Given the description of an element on the screen output the (x, y) to click on. 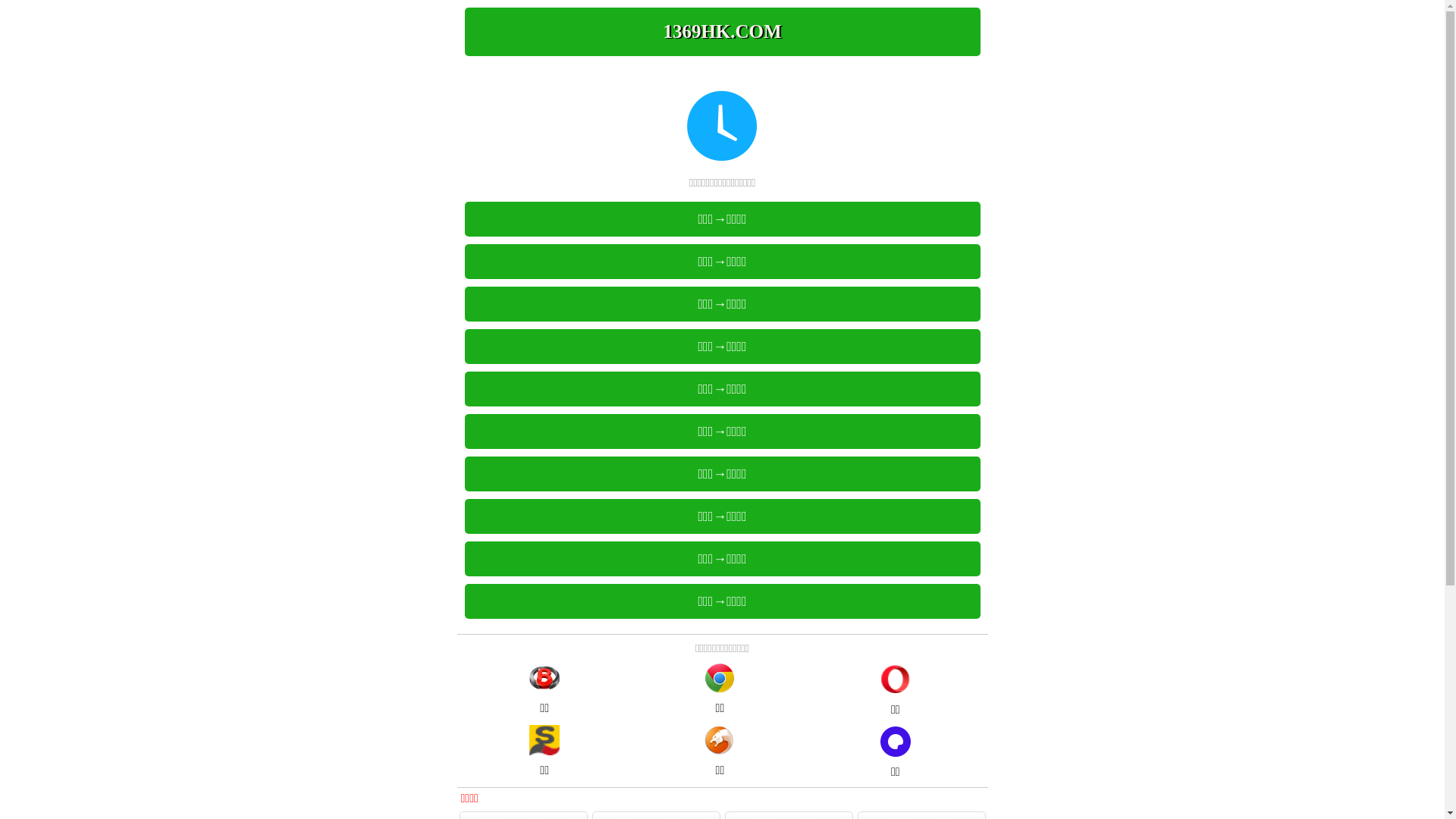
1369HK.COM Element type: text (721, 31)
